Given the description of an element on the screen output the (x, y) to click on. 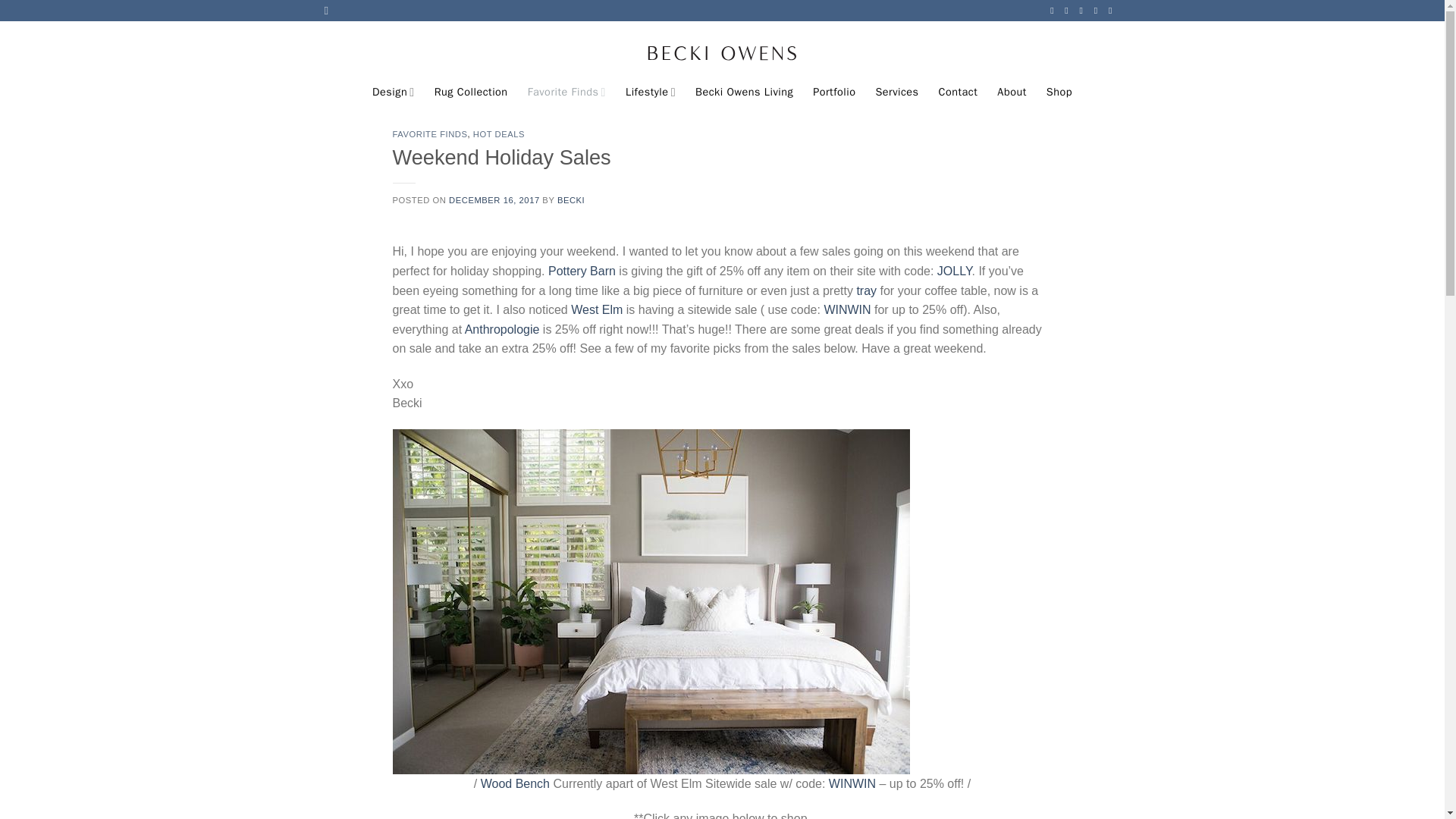
Becki Owens Blog (720, 48)
Design (393, 91)
